Given the description of an element on the screen output the (x, y) to click on. 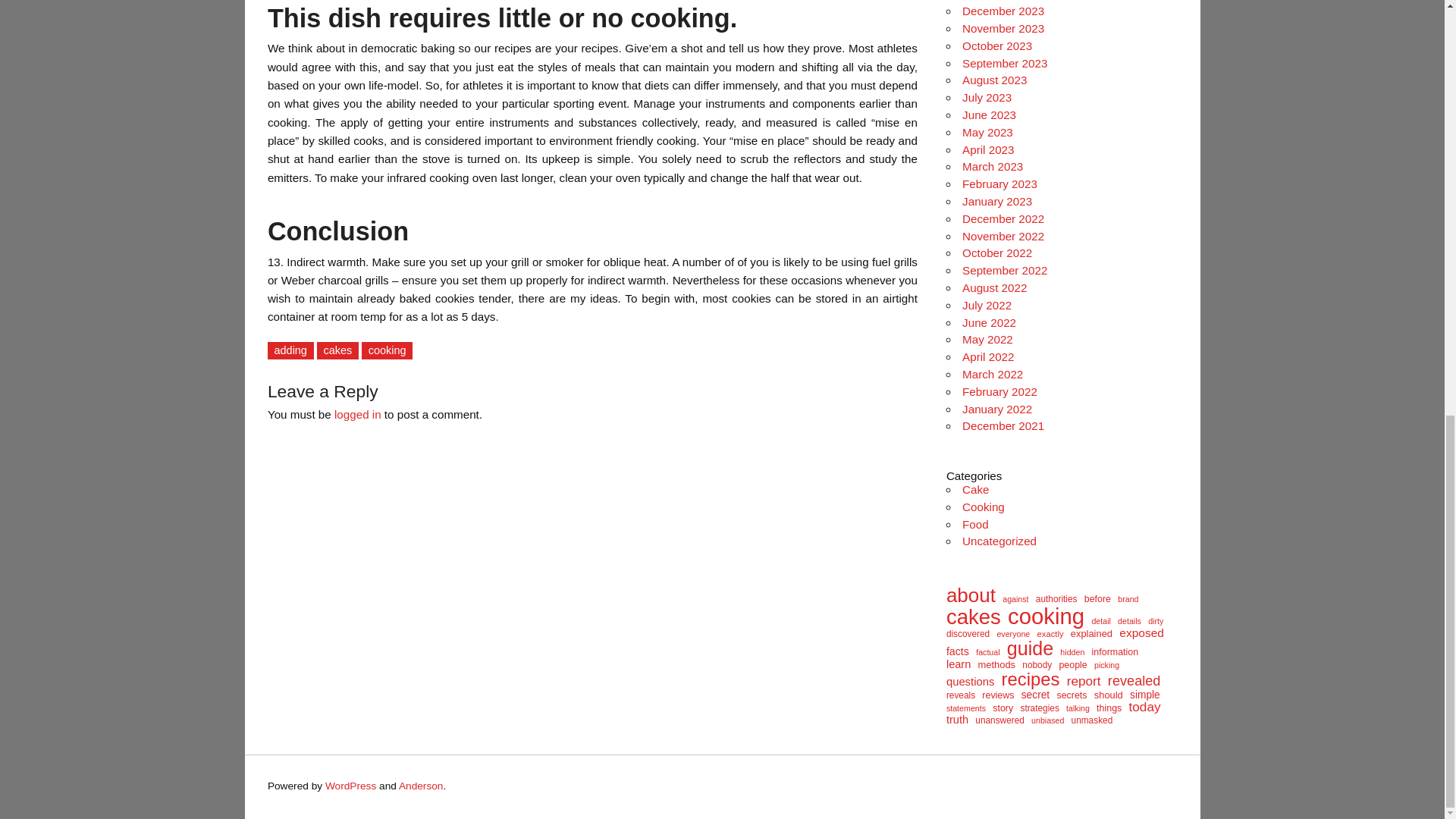
cakes (337, 350)
September 2023 (1004, 62)
logged in (357, 413)
adding (290, 350)
October 2023 (997, 45)
Anderson WordPress Theme (421, 785)
July 2023 (986, 97)
August 2023 (994, 79)
WordPress (349, 785)
cooking (386, 350)
November 2023 (1002, 28)
December 2023 (1002, 10)
